Given the description of an element on the screen output the (x, y) to click on. 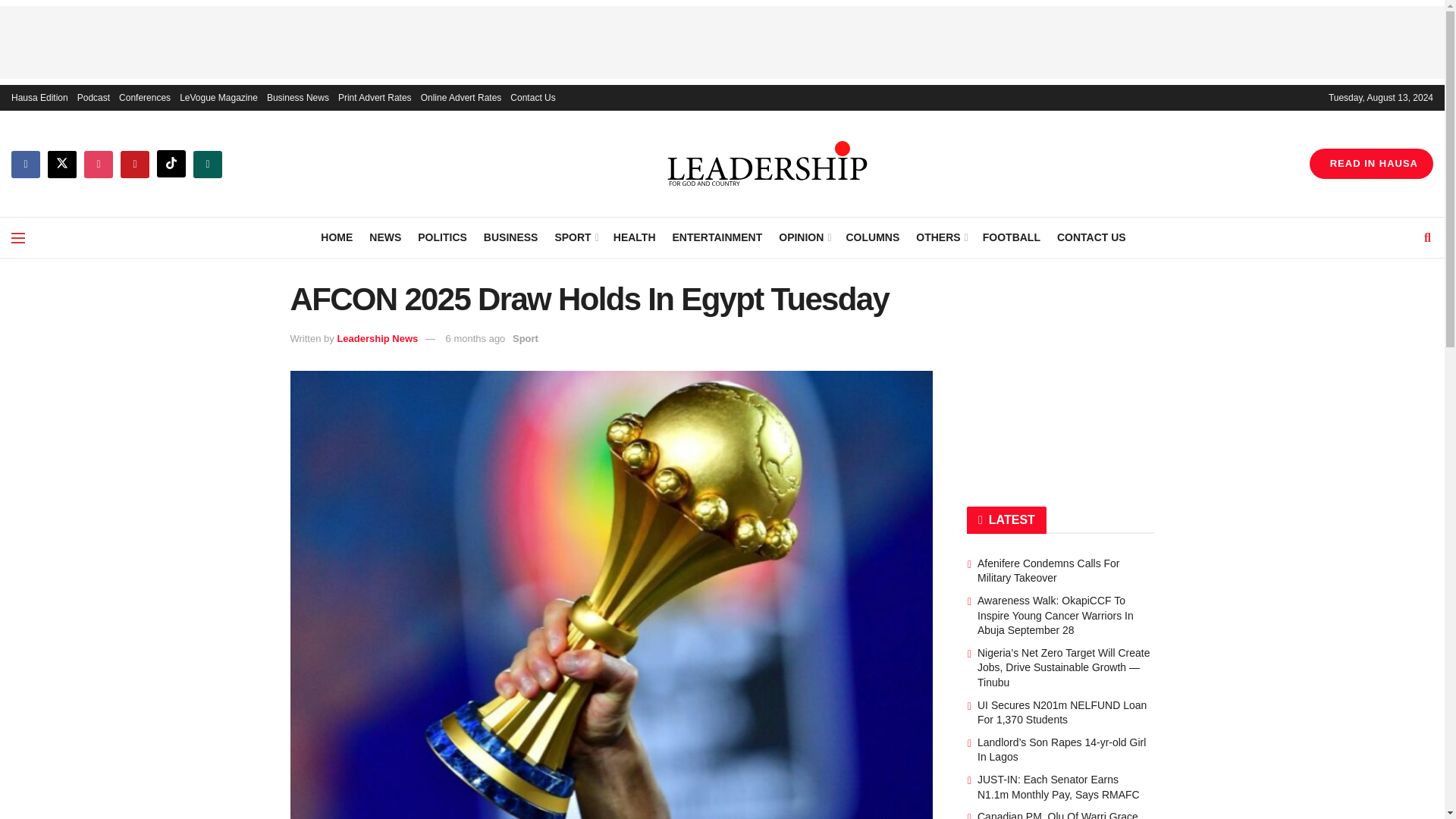
FOOTBALL (1011, 237)
Contact Us (532, 97)
CONTACT US (1091, 237)
READ IN HAUSA (1370, 163)
LeVogue Magazine (218, 97)
SPORT (574, 237)
BUSINESS (510, 237)
OTHERS (940, 237)
HEALTH (634, 237)
COLUMNS (872, 237)
